Given the description of an element on the screen output the (x, y) to click on. 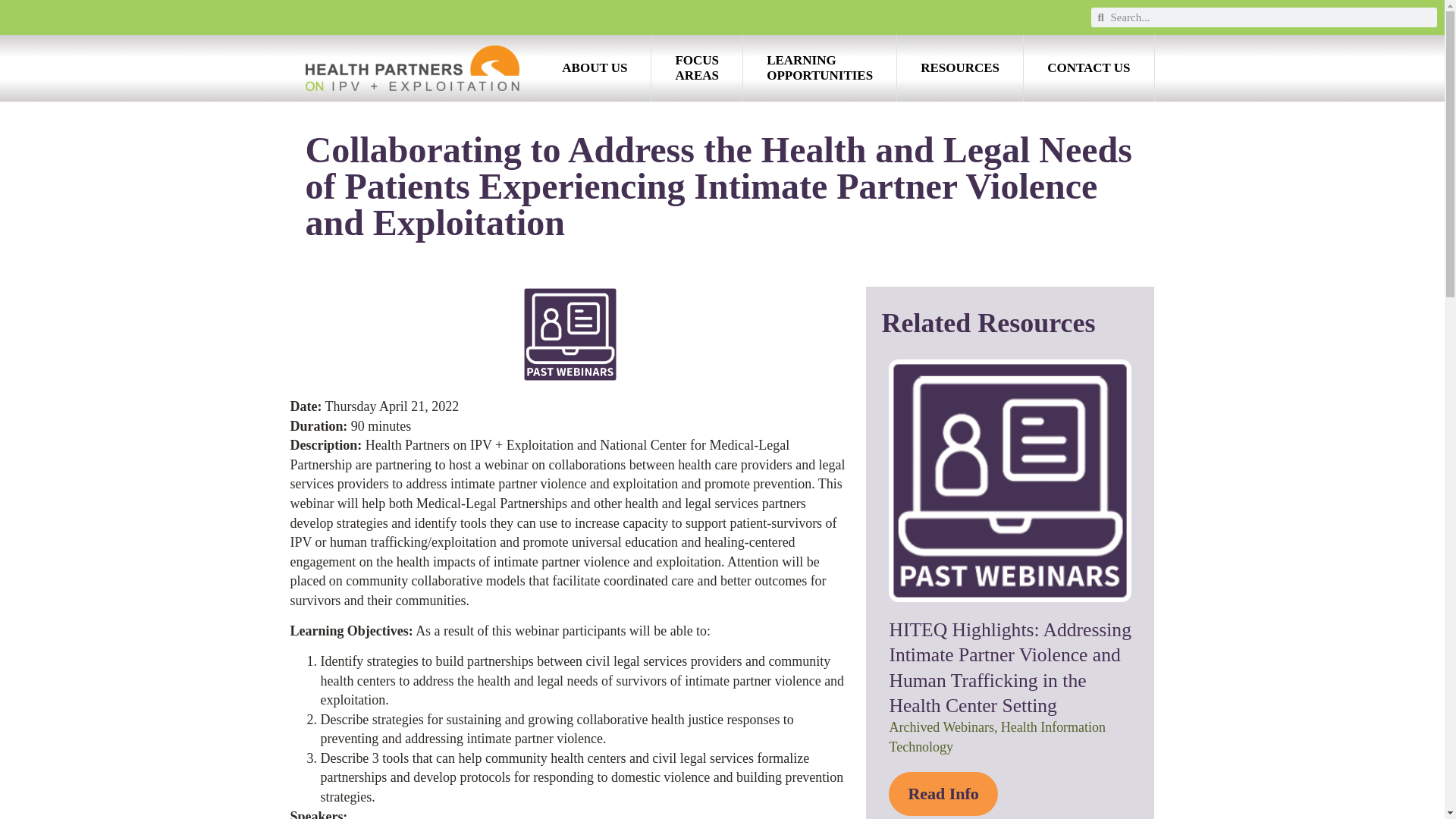
ABOUT US (819, 68)
RESOURCES (696, 68)
CONTACT US (594, 68)
